Given the description of an element on the screen output the (x, y) to click on. 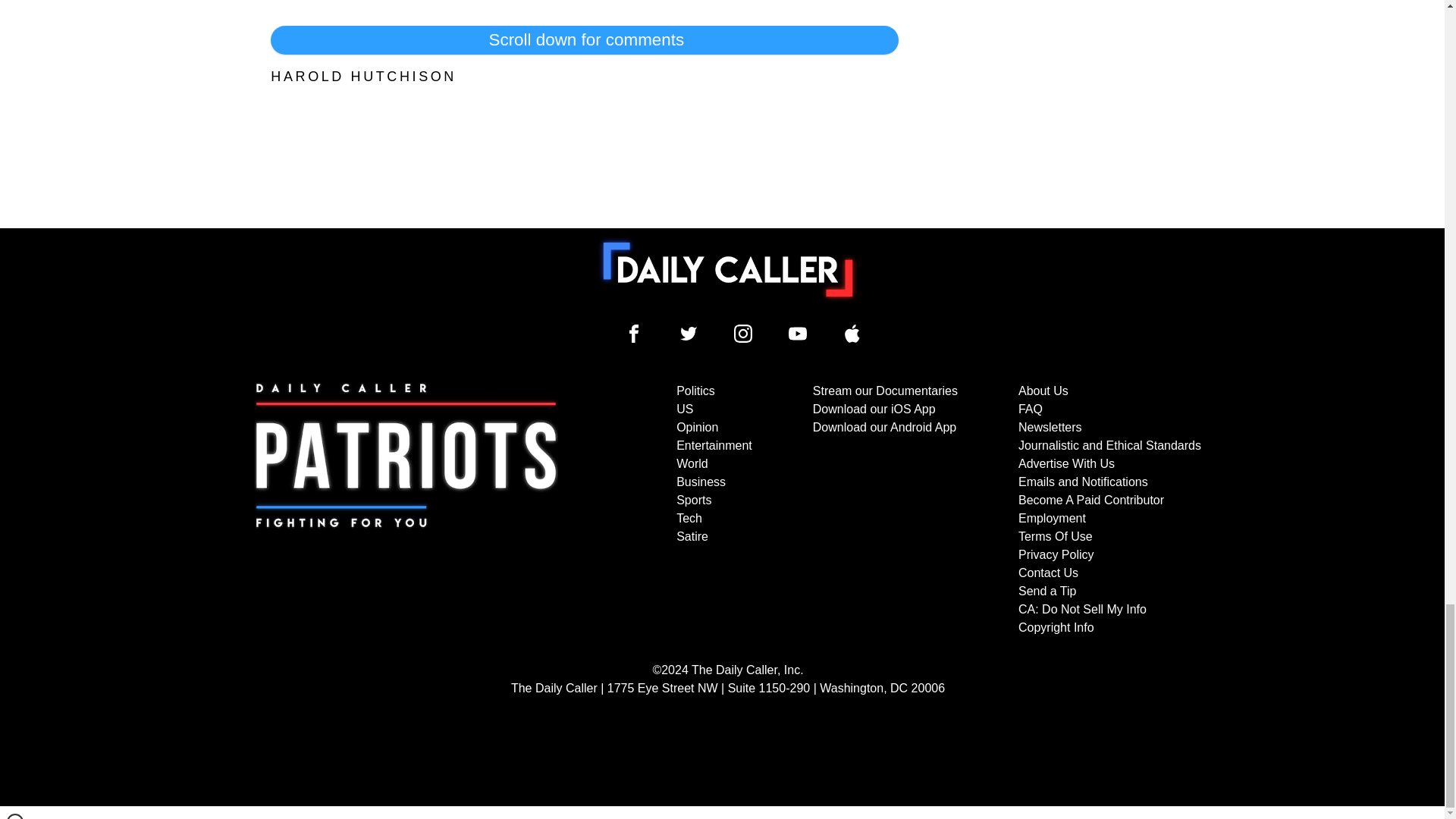
Subscribe to The Daily Caller (405, 509)
Daily Caller YouTube (852, 333)
Daily Caller Twitter (688, 333)
To home page (727, 269)
Daily Caller Instagram (742, 333)
Scroll down for comments (584, 39)
Daily Caller Facebook (633, 333)
Daily Caller YouTube (797, 333)
